Given the description of an element on the screen output the (x, y) to click on. 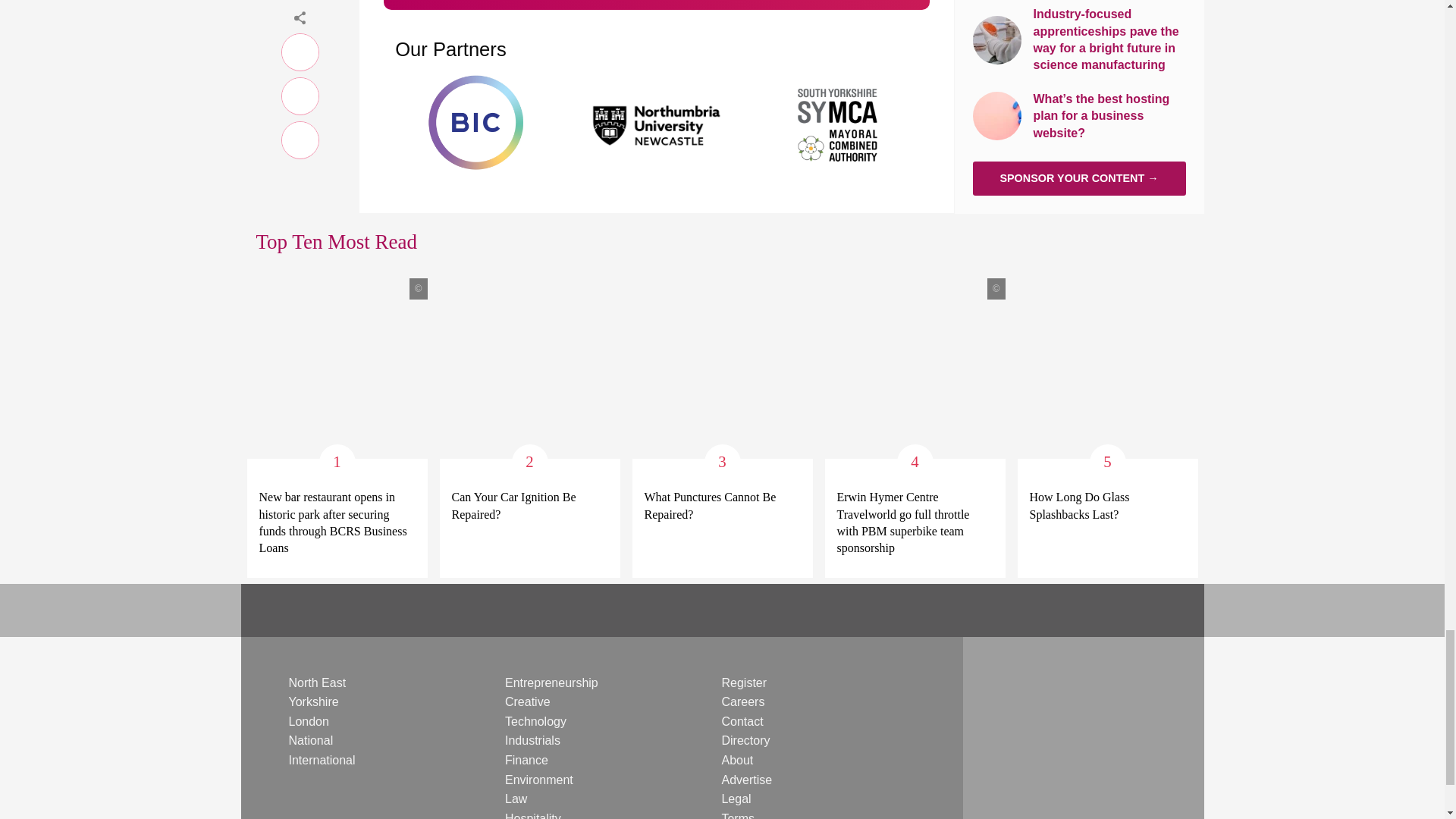
South Yorkshire Mayoral Combined Authority (838, 123)
What Punctures Cannot Be Repaired? (722, 505)
Can Your Car Ignition Be Repaired? (529, 505)
Yorkshire (312, 701)
How Long Do Glass Splashbacks Last? (1107, 505)
Northumbria University Newcastle (656, 123)
London (308, 721)
International (321, 759)
National (310, 739)
